Given the description of an element on the screen output the (x, y) to click on. 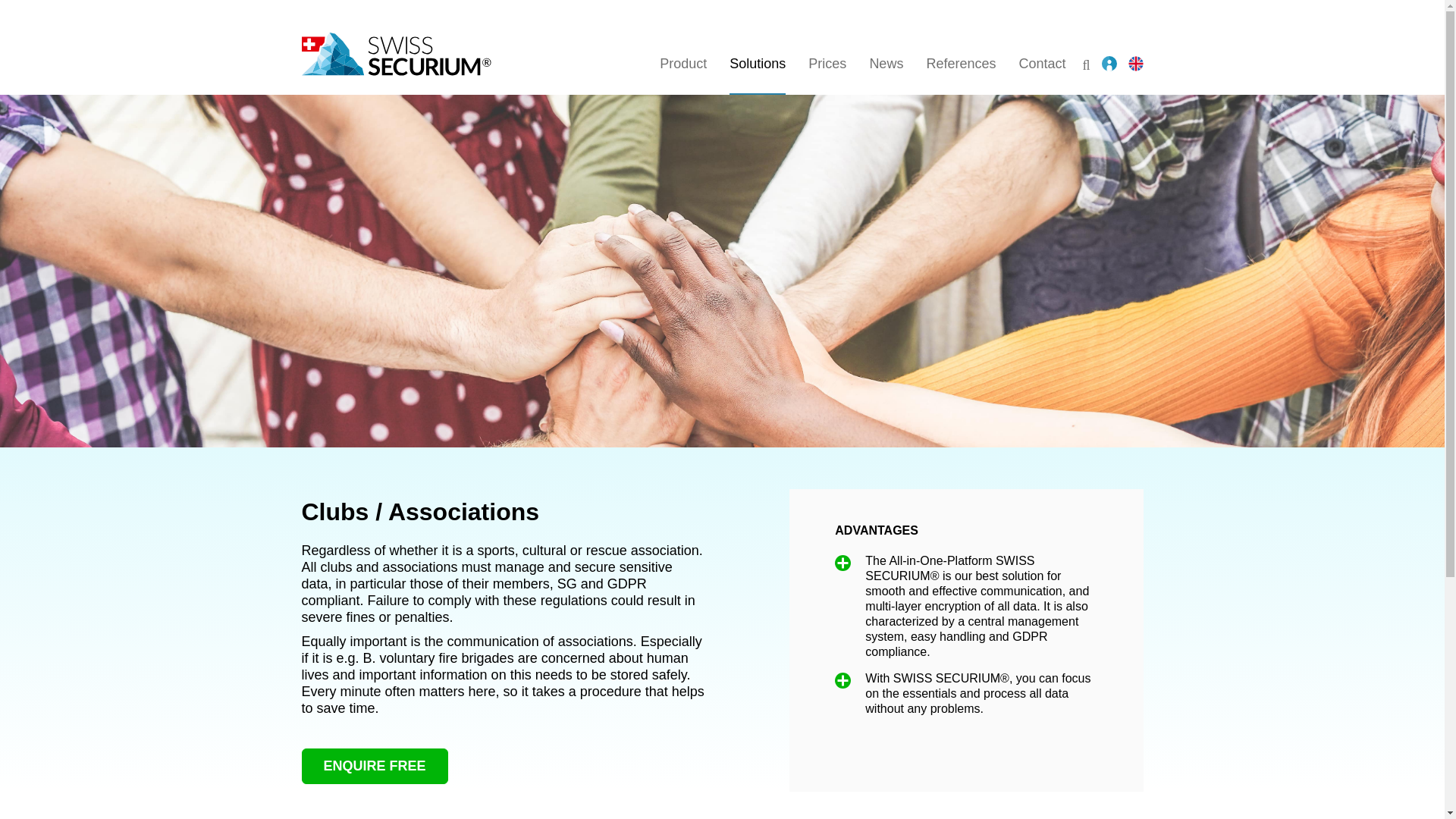
Login (1109, 63)
References (960, 63)
ENQUIRE FREE (374, 765)
References (960, 63)
Solutions (757, 63)
Solutions (721, 47)
German (721, 47)
